Given the description of an element on the screen output the (x, y) to click on. 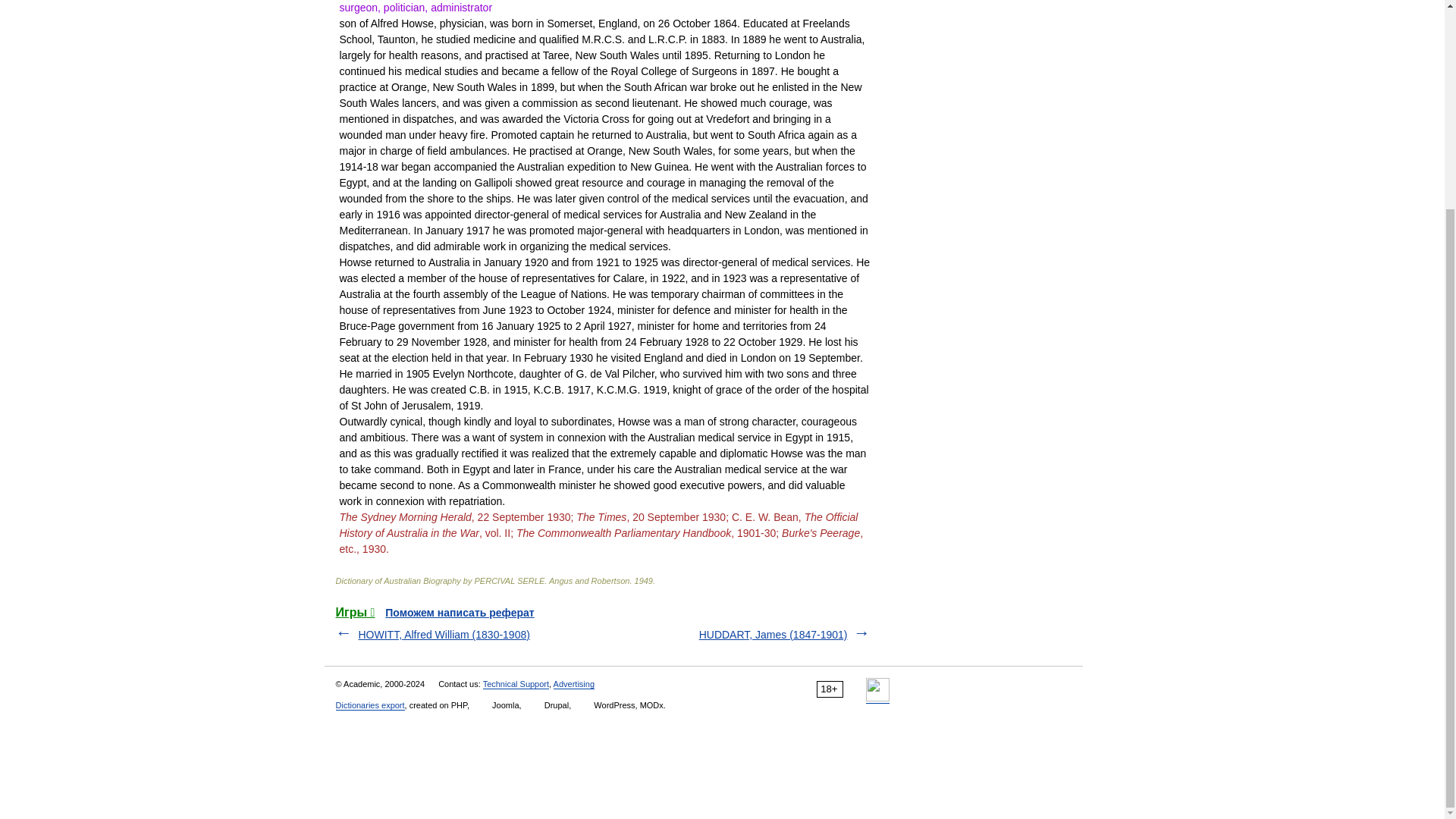
Dictionaries export (369, 705)
Technical Support (515, 684)
LiveInternet (877, 689)
Advertising (573, 684)
